Given the description of an element on the screen output the (x, y) to click on. 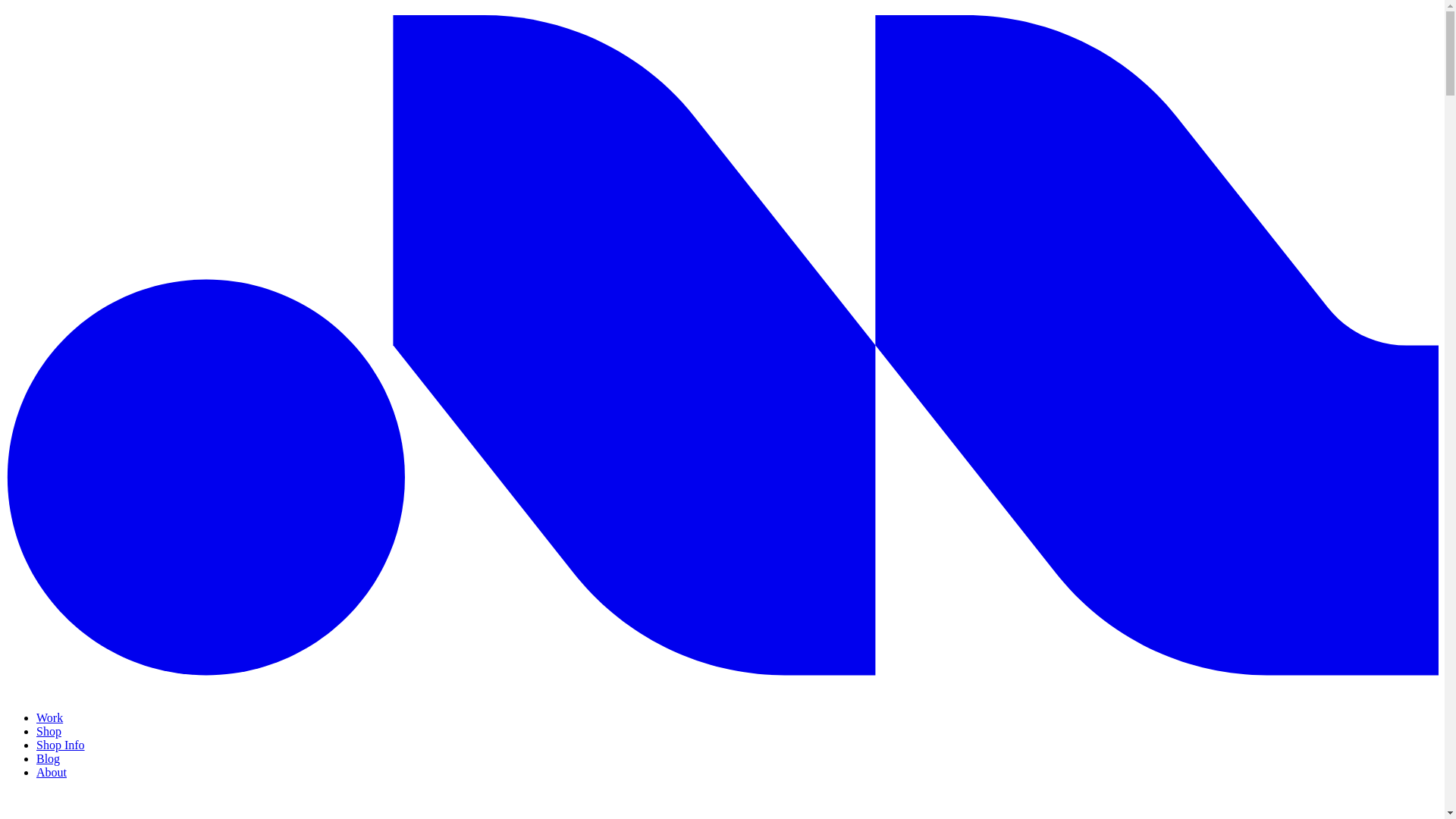
About (51, 771)
Shop Info (60, 744)
Blog (47, 758)
Shop (48, 730)
Work (49, 717)
